Given the description of an element on the screen output the (x, y) to click on. 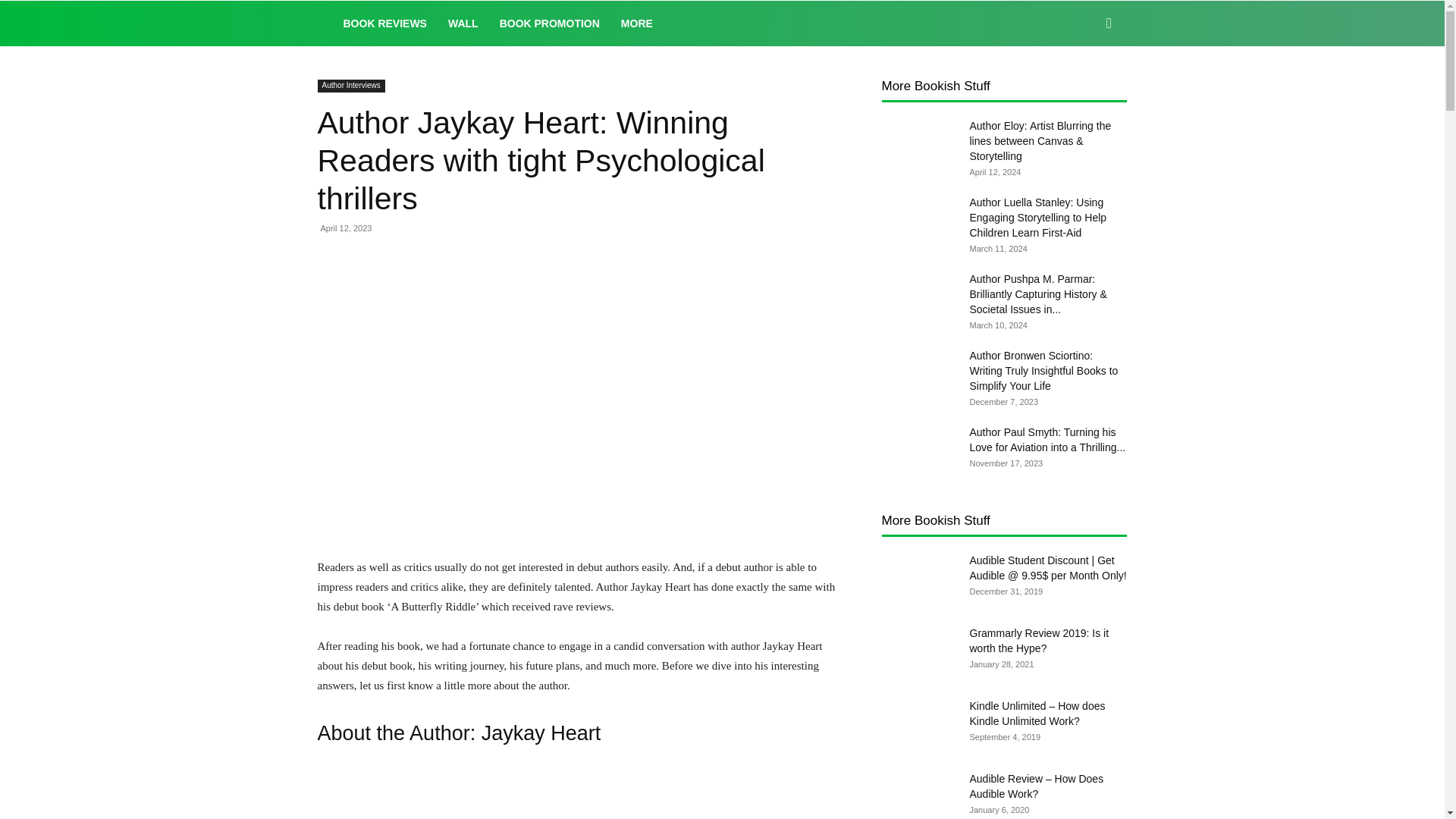
Search (1085, 88)
WALL (463, 22)
BOOK REVIEWS (383, 22)
Author Interviews (350, 85)
MORE (636, 22)
BOOK PROMOTION (549, 22)
Vowelor (324, 23)
